Given the description of an element on the screen output the (x, y) to click on. 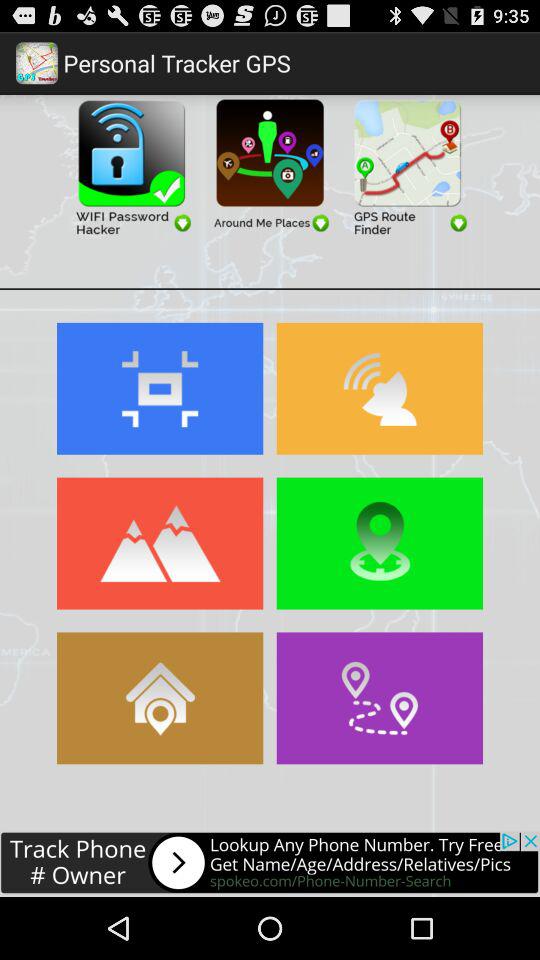
select the widget (407, 165)
